Given the description of an element on the screen output the (x, y) to click on. 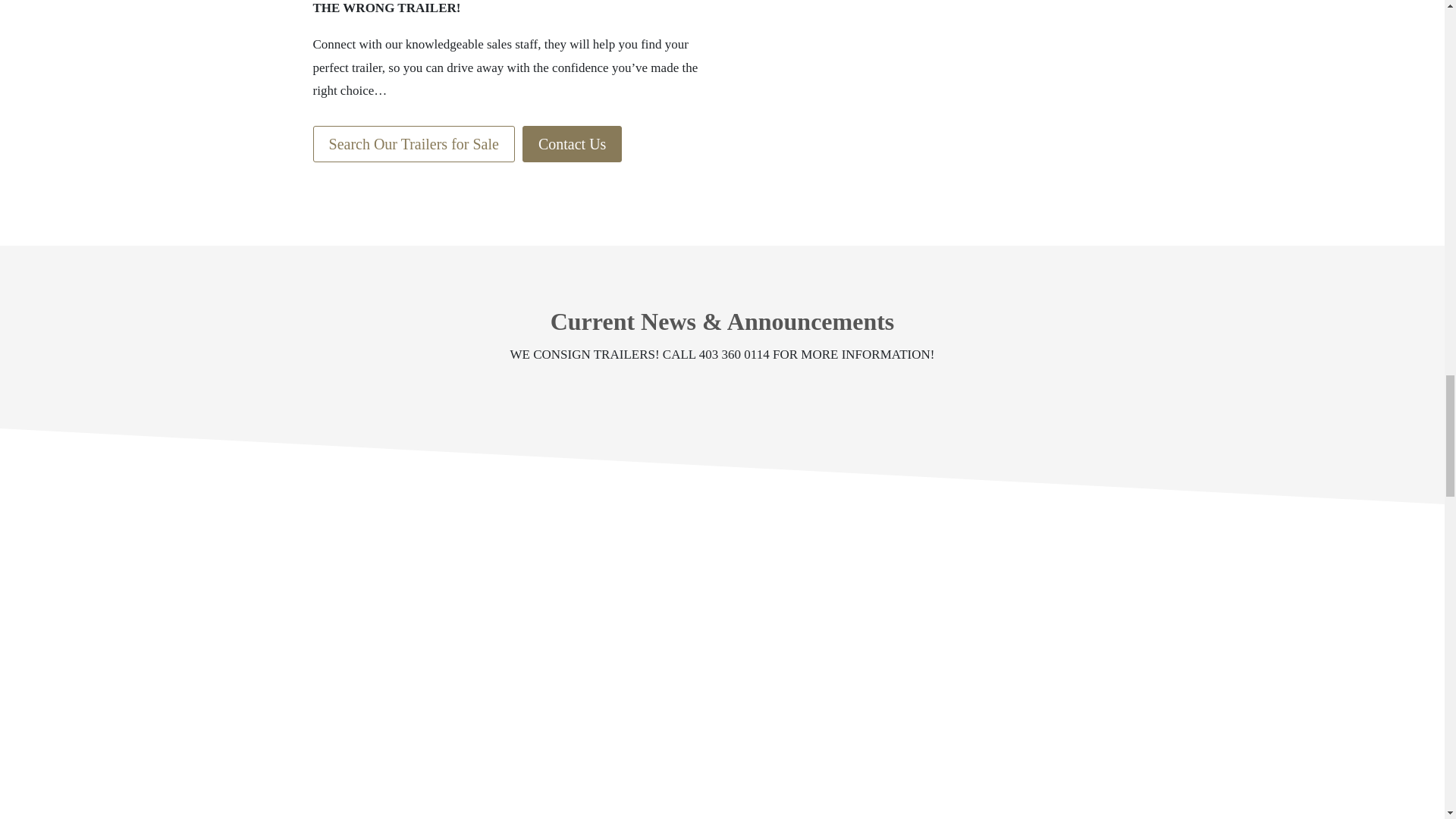
cog (433, 675)
support (1010, 675)
care (721, 675)
